Given the description of an element on the screen output the (x, y) to click on. 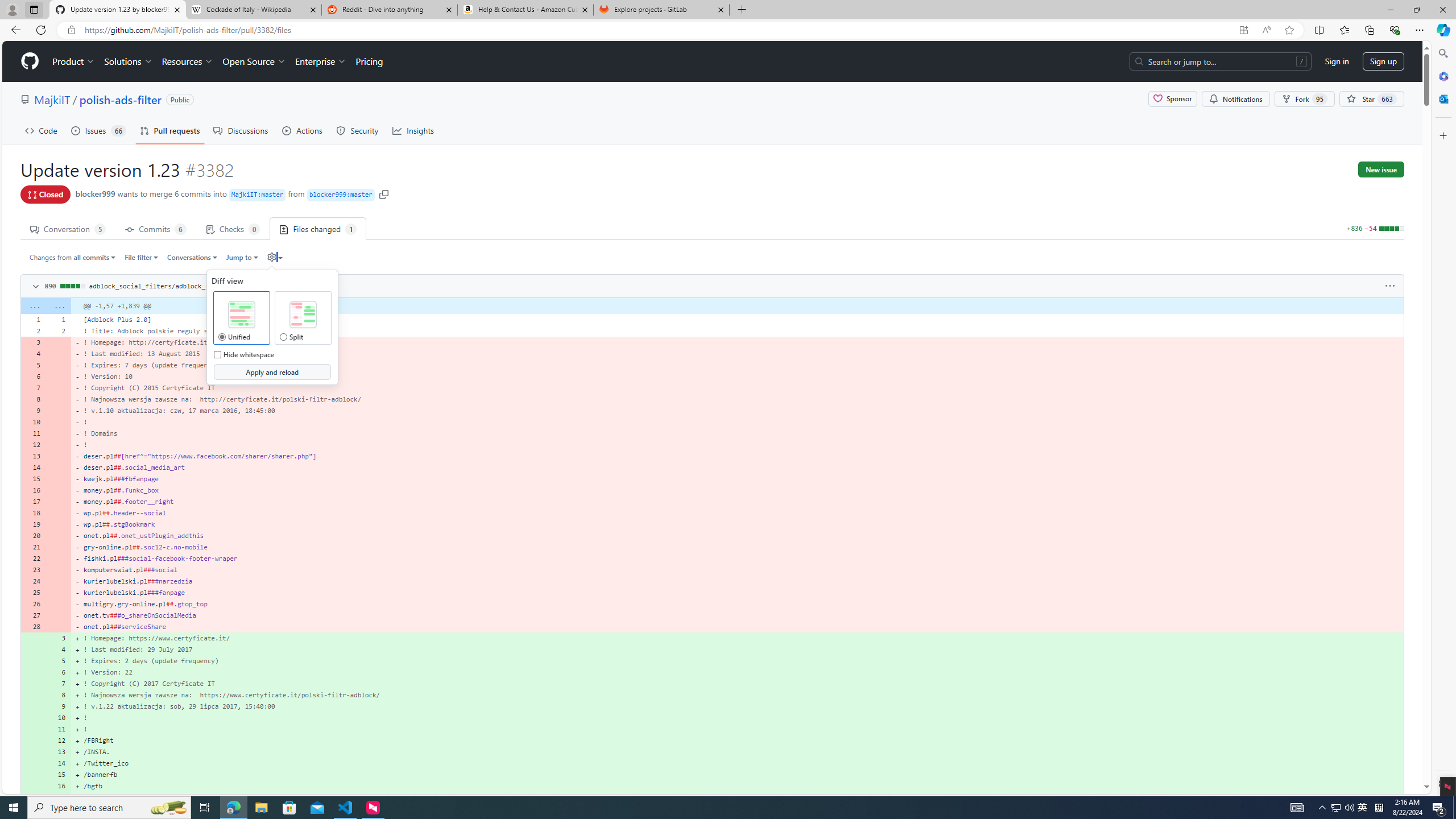
25 (33, 592)
+ ! Last modified: 29 July 2017 (737, 649)
Unified Diff View (241, 314)
@@ -1,57 +1,839 @@ (737, 305)
You must be signed in to star a repository (1371, 98)
Enterprise (319, 60)
Class: blob-num blob-num-addition empty-cell (33, 797)
+ ! Homepage: https://www.certyficate.it/ (737, 637)
Resources (187, 60)
Code (41, 130)
- multigry.gry-online.pl##.gtop_top (737, 603)
Sign up (1382, 61)
- wp.pl##.header--social (737, 512)
